Given the description of an element on the screen output the (x, y) to click on. 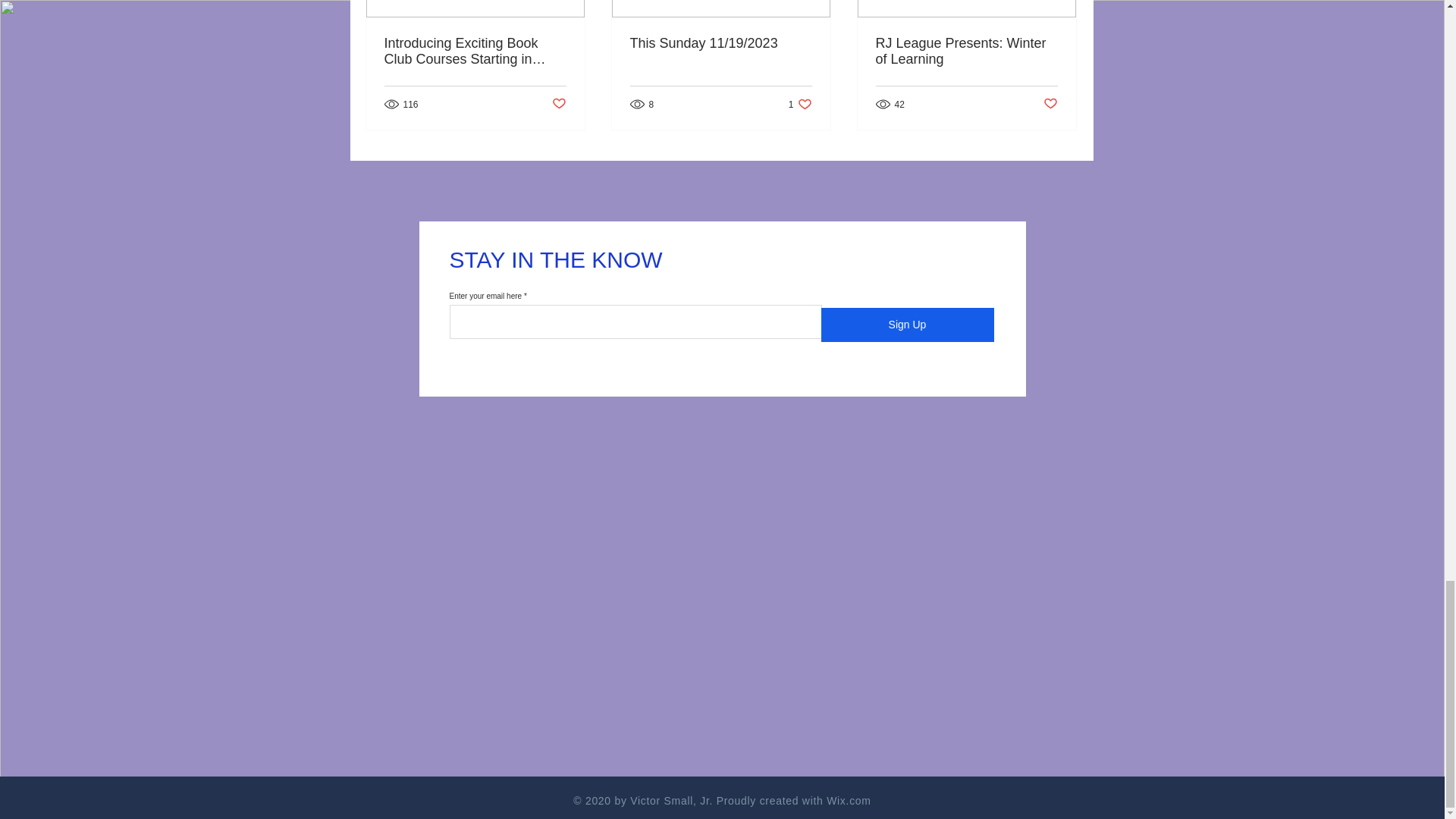
Post not marked as liked (1050, 104)
Sign Up (906, 324)
Introducing Exciting Book Club Courses Starting in March! (475, 51)
RJ League Presents: Winter of Learning (800, 104)
Post not marked as liked (966, 51)
